Given the description of an element on the screen output the (x, y) to click on. 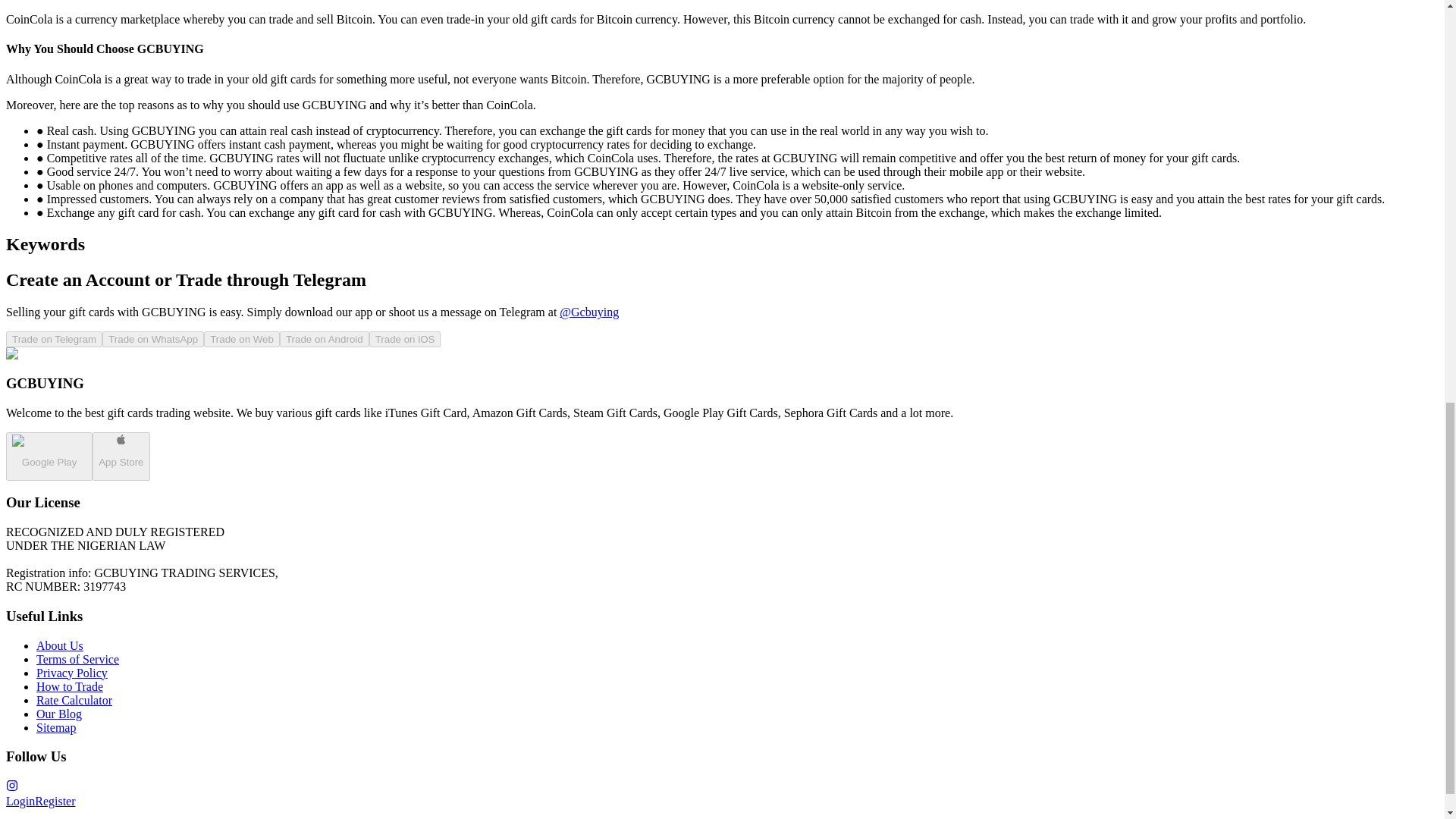
About Us (59, 645)
Trade on iOS (405, 339)
Google Play (49, 461)
Google Play (49, 456)
Trade on Telegram (53, 339)
Trade on Android (324, 339)
Trade on Web (241, 338)
App Store (121, 461)
Trade on WhatsApp (152, 339)
Trade on Telegram (53, 338)
Terms of Service (77, 658)
Trade on Web (241, 339)
App Store (121, 456)
Trade on WhatsApp (152, 338)
Trade on Android (324, 338)
